Given the description of an element on the screen output the (x, y) to click on. 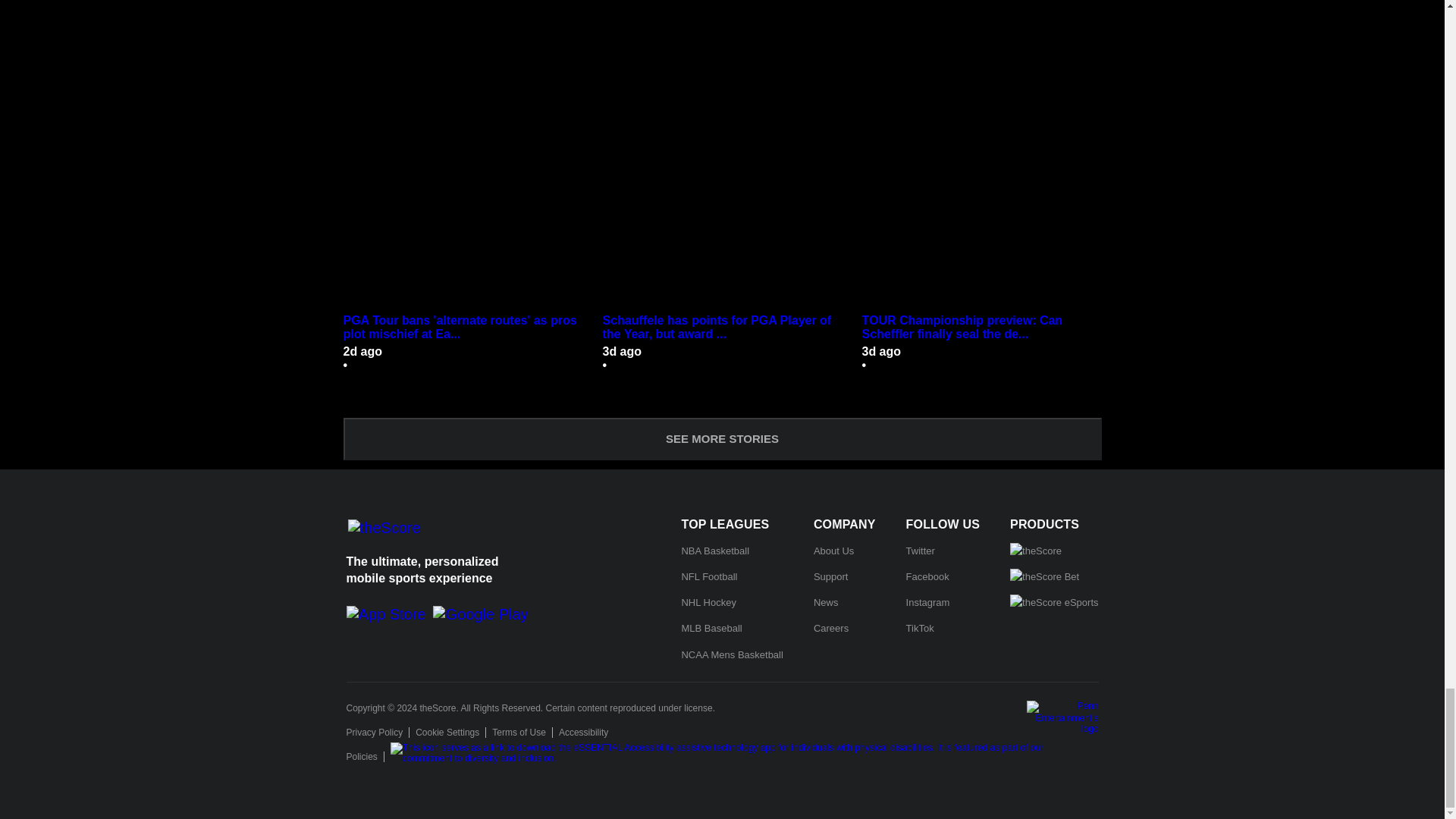
2024-08-29T11:15:07.209Z (361, 350)
2024-08-27T16:08:01.000Z (881, 350)
Penn Entertainment (1062, 717)
2024-08-27T16:52:02.000Z (622, 350)
